Given the description of an element on the screen output the (x, y) to click on. 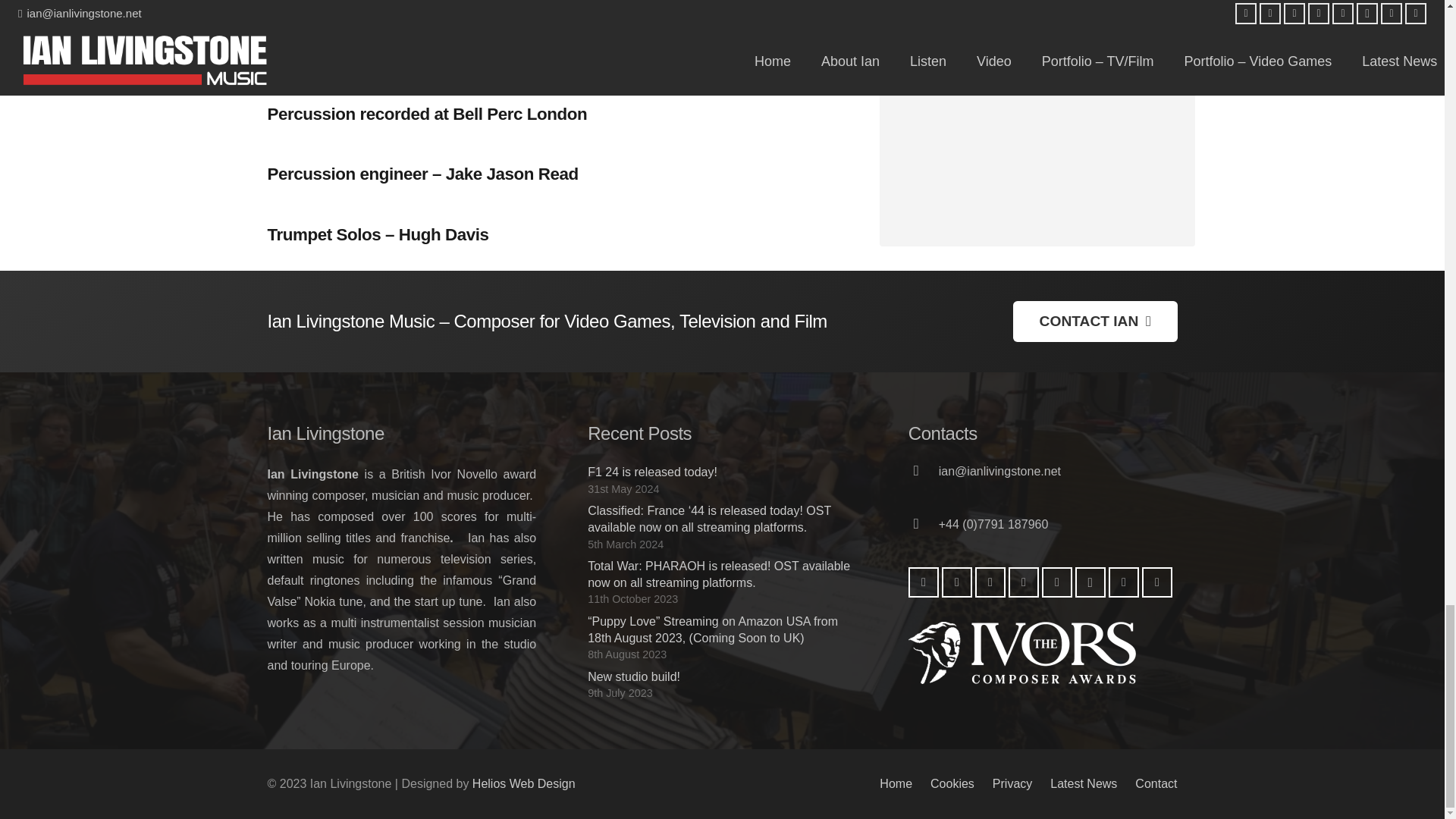
Wikipedia (1156, 582)
LinkedIn (1024, 582)
CONTACT IAN (1094, 321)
Instagram (1090, 582)
Facebook (923, 582)
YouTube (957, 582)
Twitter (990, 582)
New studio build! (633, 676)
F1 24 is released today! (652, 472)
IMDb (1056, 582)
Moby Games (1123, 582)
